Given the description of an element on the screen output the (x, y) to click on. 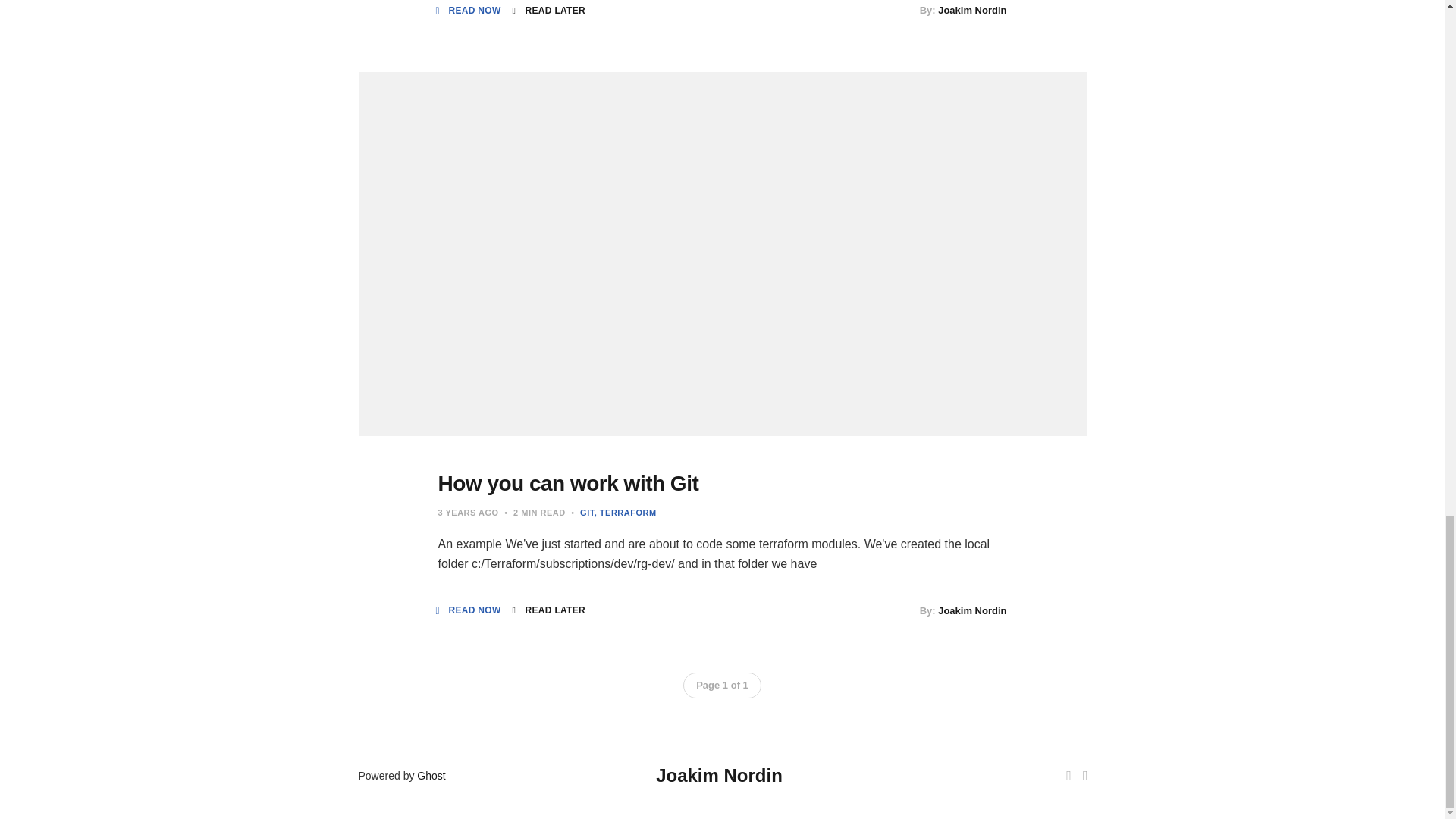
READ LATER (548, 610)
TERRAFORM (625, 511)
Joakim Nordin (719, 775)
Joakim Nordin (971, 9)
Ghost (430, 775)
Joakim Nordin (971, 610)
git (586, 511)
How you can work with Git (568, 483)
READ NOW (469, 610)
READ LATER (548, 10)
